Given the description of an element on the screen output the (x, y) to click on. 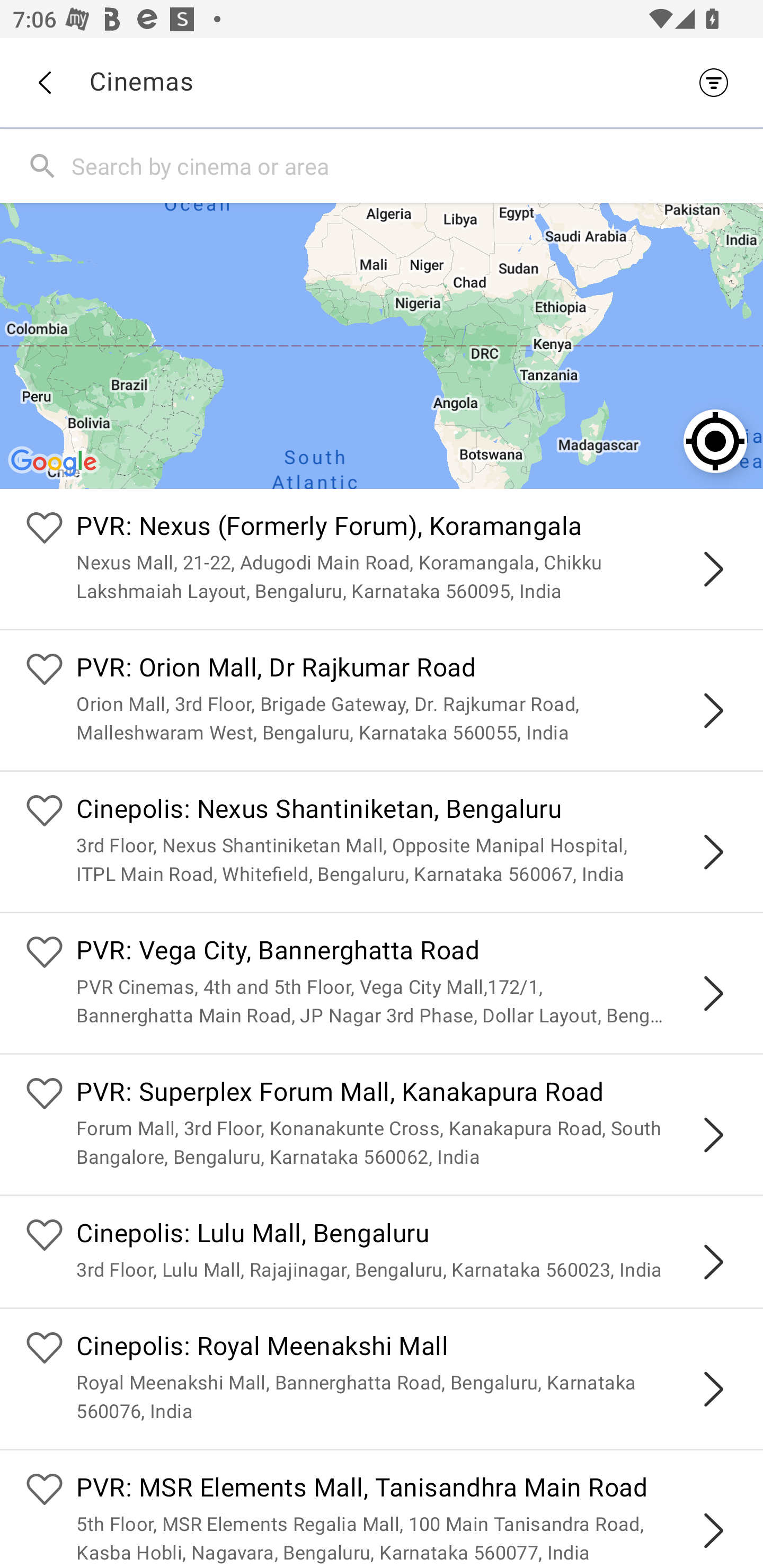
Back Cinemas Filter (381, 82)
Filter (718, 82)
Back (44, 82)
Search by cinema or area (413, 165)
Google Map (381, 345)
PVR: Nexus (Formerly Forum), Koramangala (406, 528)
 (713, 568)
PVR: Orion Mall, Dr Rajkumar Road (406, 669)
 (713, 710)
Cinepolis: Nexus Shantiniketan, Bengaluru (406, 810)
 (713, 851)
PVR: Vega City, Bannerghatta Road (406, 952)
 (713, 993)
PVR: Superplex Forum Mall, Kanakapura Road (406, 1094)
 (713, 1134)
Cinepolis: Lulu Mall, Bengaluru (406, 1235)
 (713, 1261)
Cinepolis: Royal Meenakshi Mall (406, 1348)
 (713, 1388)
PVR: MSR Elements Mall, Tanisandhra Main Road (406, 1489)
 (713, 1530)
